Given the description of an element on the screen output the (x, y) to click on. 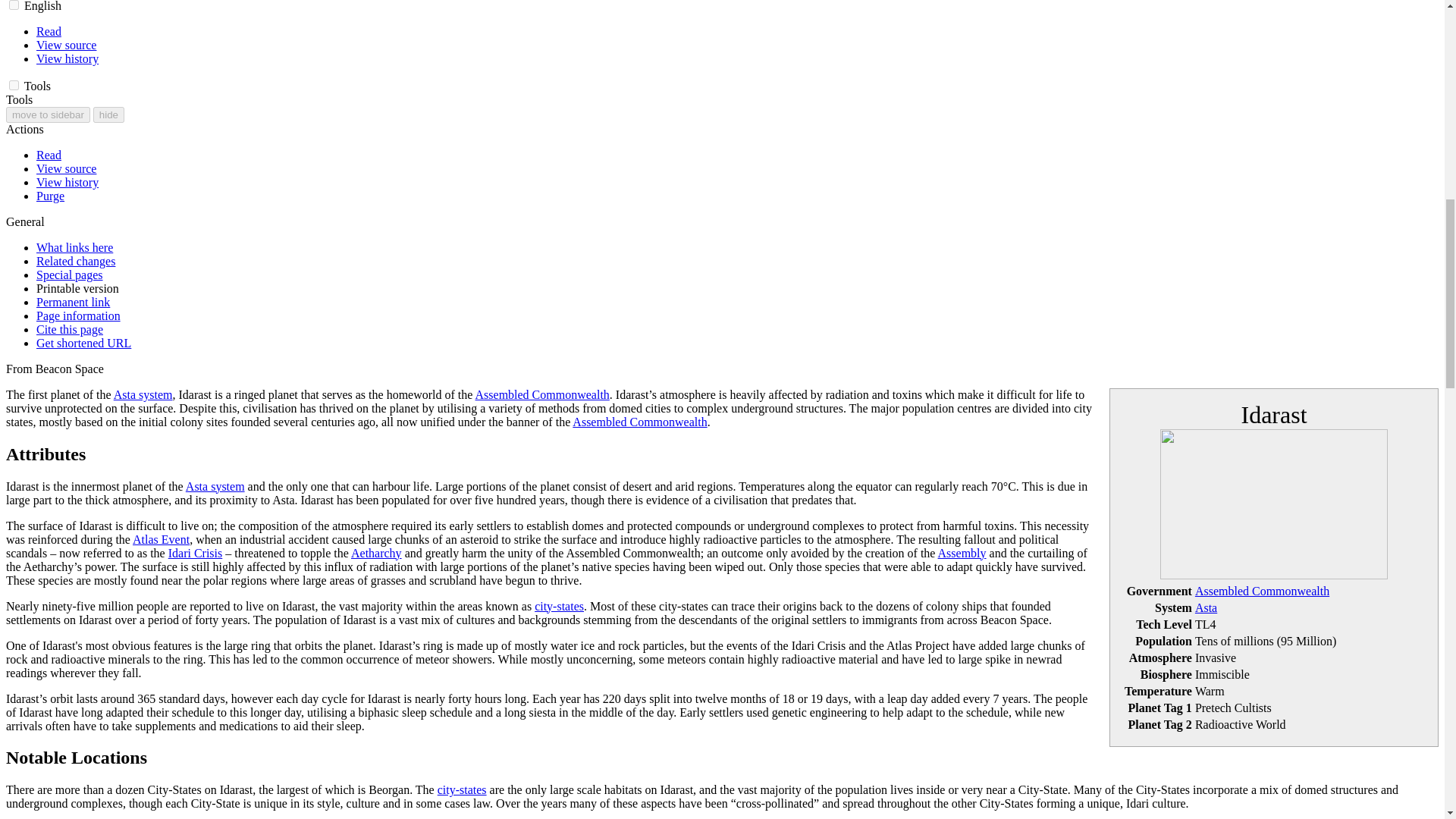
Read (48, 31)
on (13, 4)
on (13, 85)
View source (66, 44)
View history (67, 58)
